Given the description of an element on the screen output the (x, y) to click on. 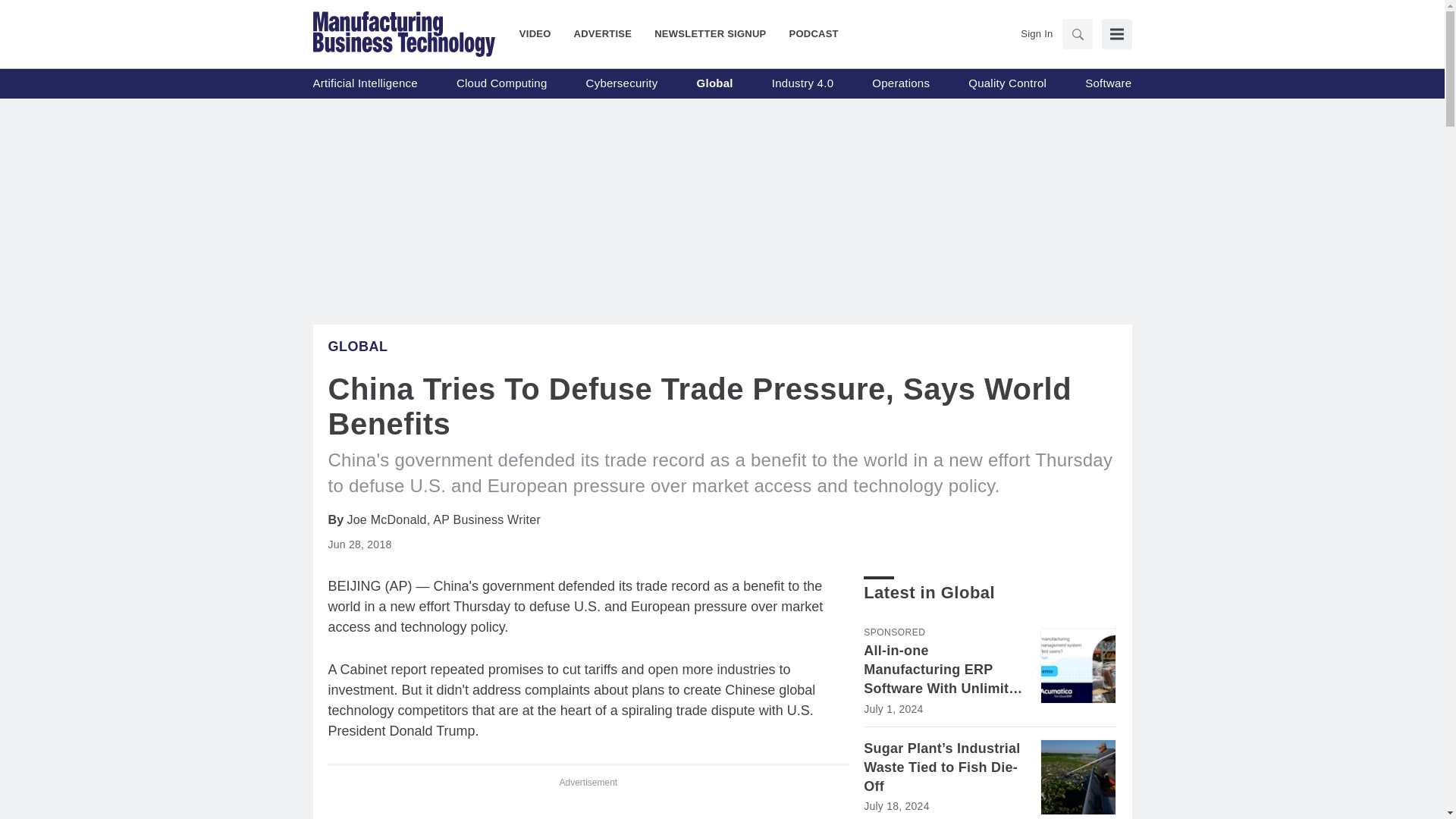
Global (357, 346)
Operations (901, 83)
NEWSLETTER SIGNUP (710, 33)
Cloud Computing (502, 83)
PODCAST (807, 33)
Sign In (1036, 33)
Global (715, 83)
Quality Control (1007, 83)
ADVERTISE (602, 33)
Cybersecurity (622, 83)
VIDEO (540, 33)
Artificial Intelligence (364, 83)
Sponsored (893, 632)
Software (1107, 83)
Industry 4.0 (801, 83)
